Given the description of an element on the screen output the (x, y) to click on. 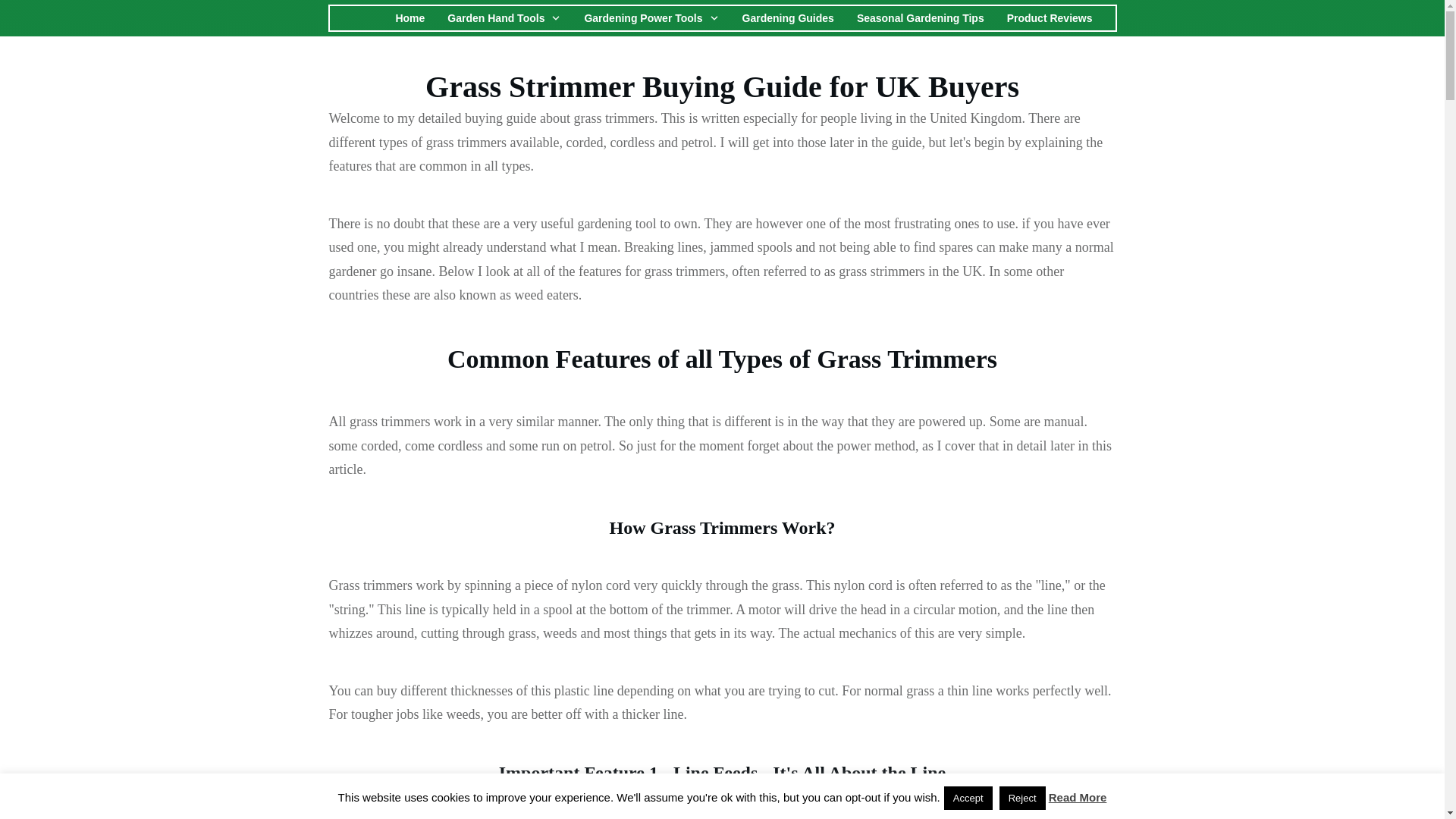
Seasonal Gardening Tips (920, 17)
Product Reviews (1050, 17)
Garden Hand Tools (503, 17)
Gardening Guides (788, 17)
Gardening Power Tools (651, 17)
Home (409, 17)
